Given the description of an element on the screen output the (x, y) to click on. 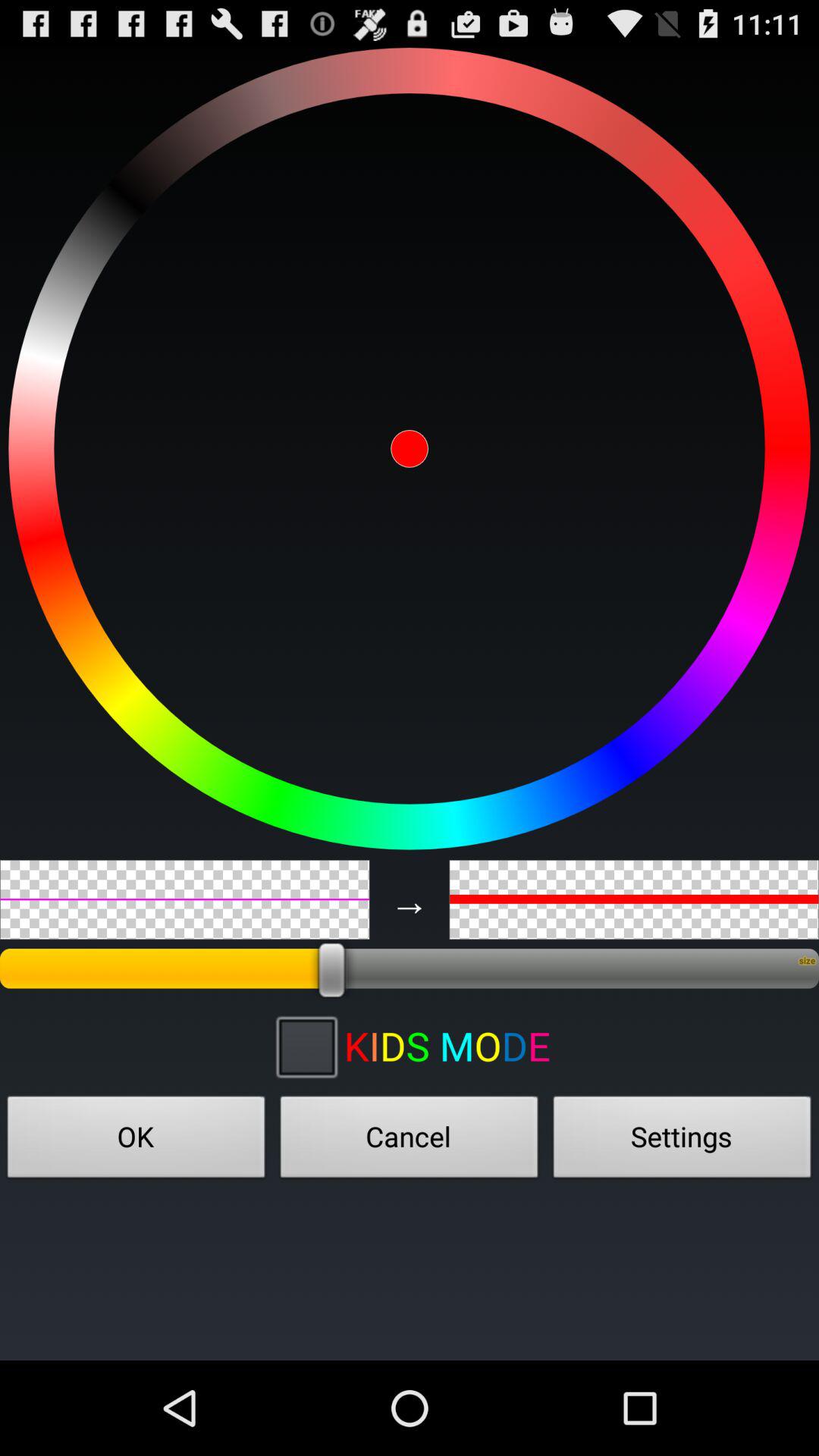
select the icon to the left of cancel item (136, 1141)
